Given the description of an element on the screen output the (x, y) to click on. 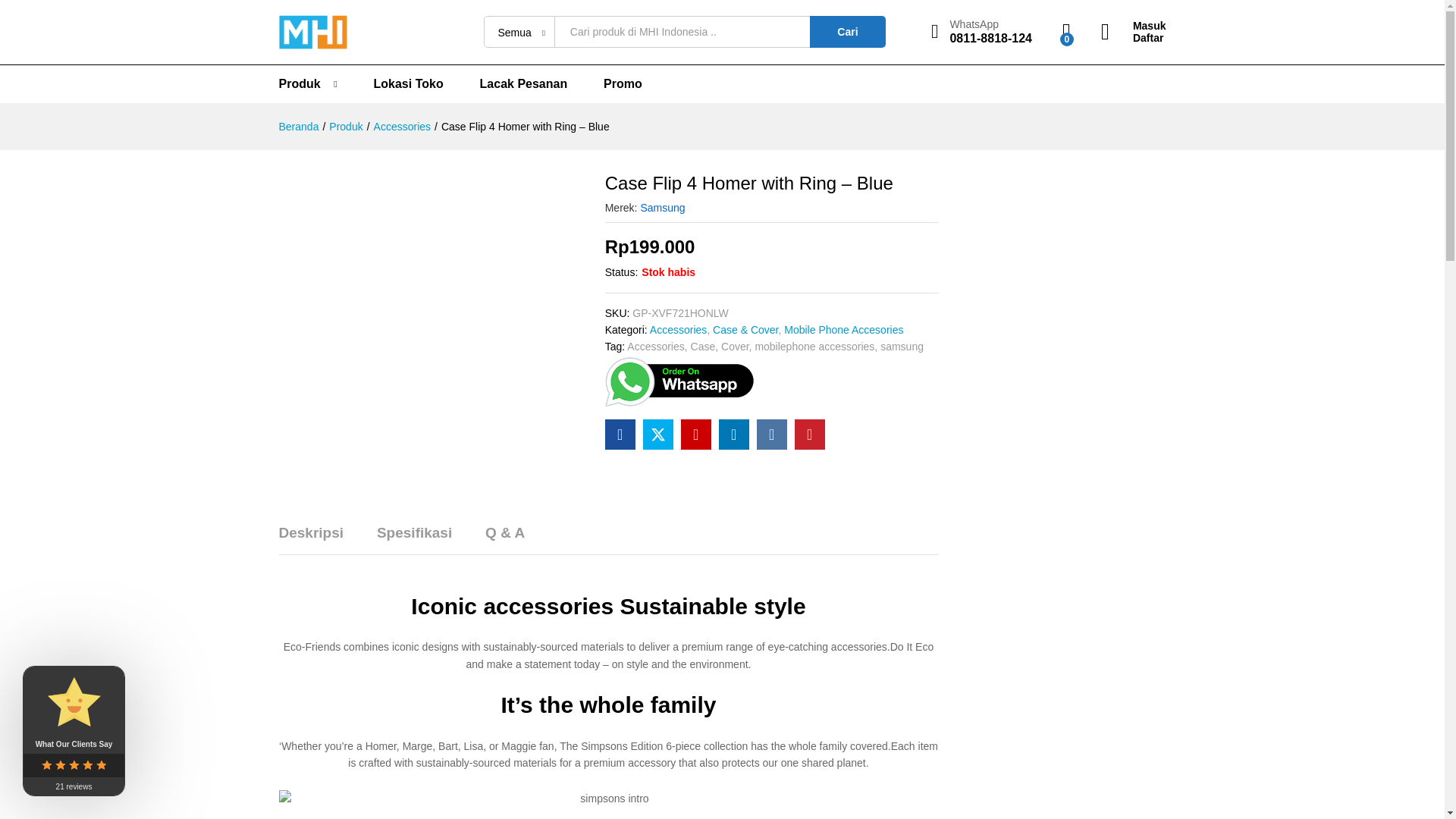
Produk (981, 31)
Accessories (345, 126)
Lokasi Toko (402, 126)
Produk (409, 83)
Cari (299, 83)
Masuk (847, 31)
Lacak Pesanan (1133, 25)
Daftar (523, 83)
Promo (1133, 38)
Beranda (623, 83)
